Given the description of an element on the screen output the (x, y) to click on. 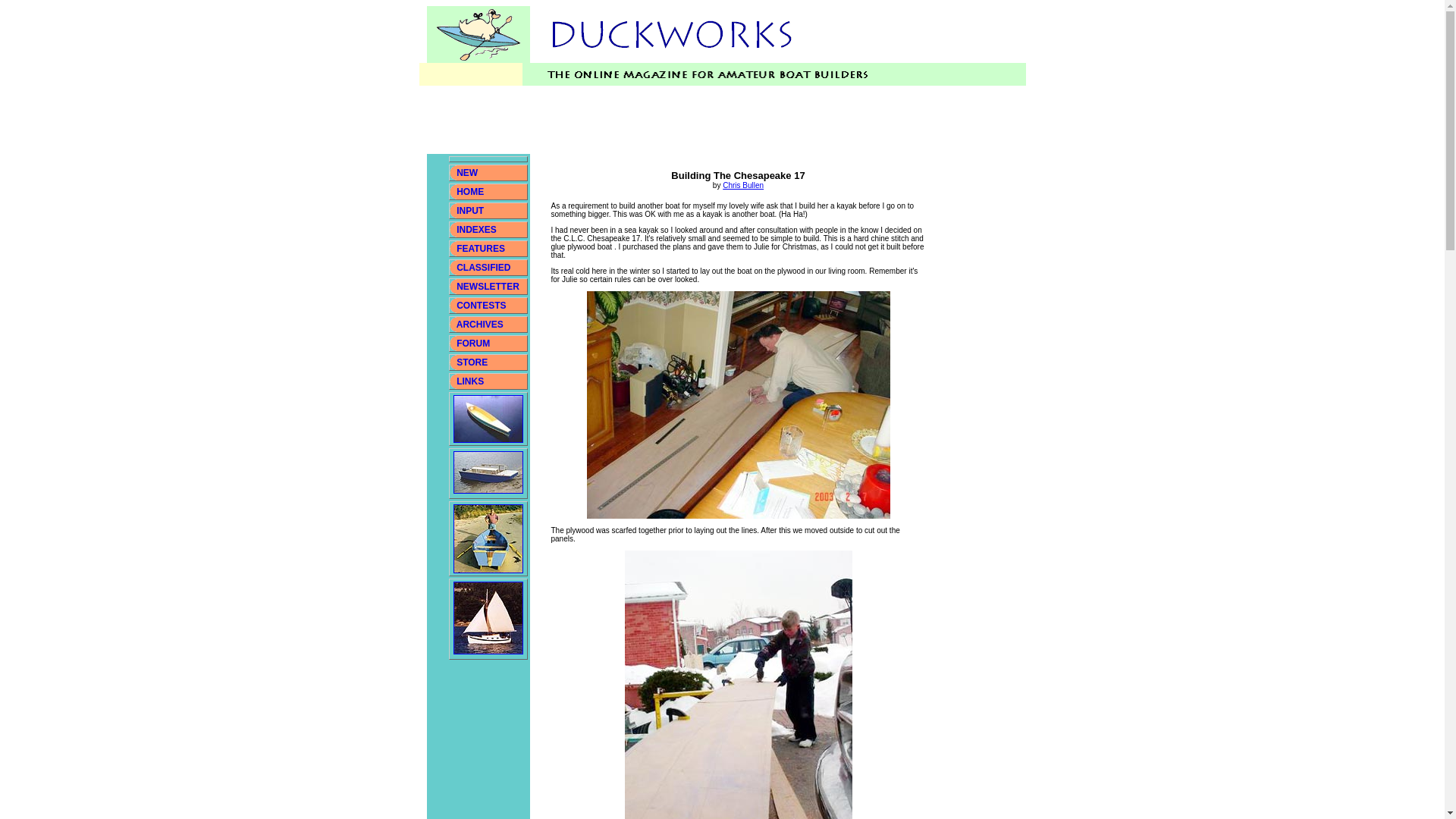
 LINKS (468, 380)
STORE (472, 362)
HOME (470, 191)
CONTESTS (481, 305)
NEWSLETTER (488, 286)
FEATURES (481, 248)
CLASSIFIED (484, 267)
Advertisement (702, 119)
FORUM (473, 343)
Chris Bullen (742, 184)
ARCHIVES (480, 324)
INDEXES (476, 229)
NEW (467, 172)
INPUT (470, 210)
